Given the description of an element on the screen output the (x, y) to click on. 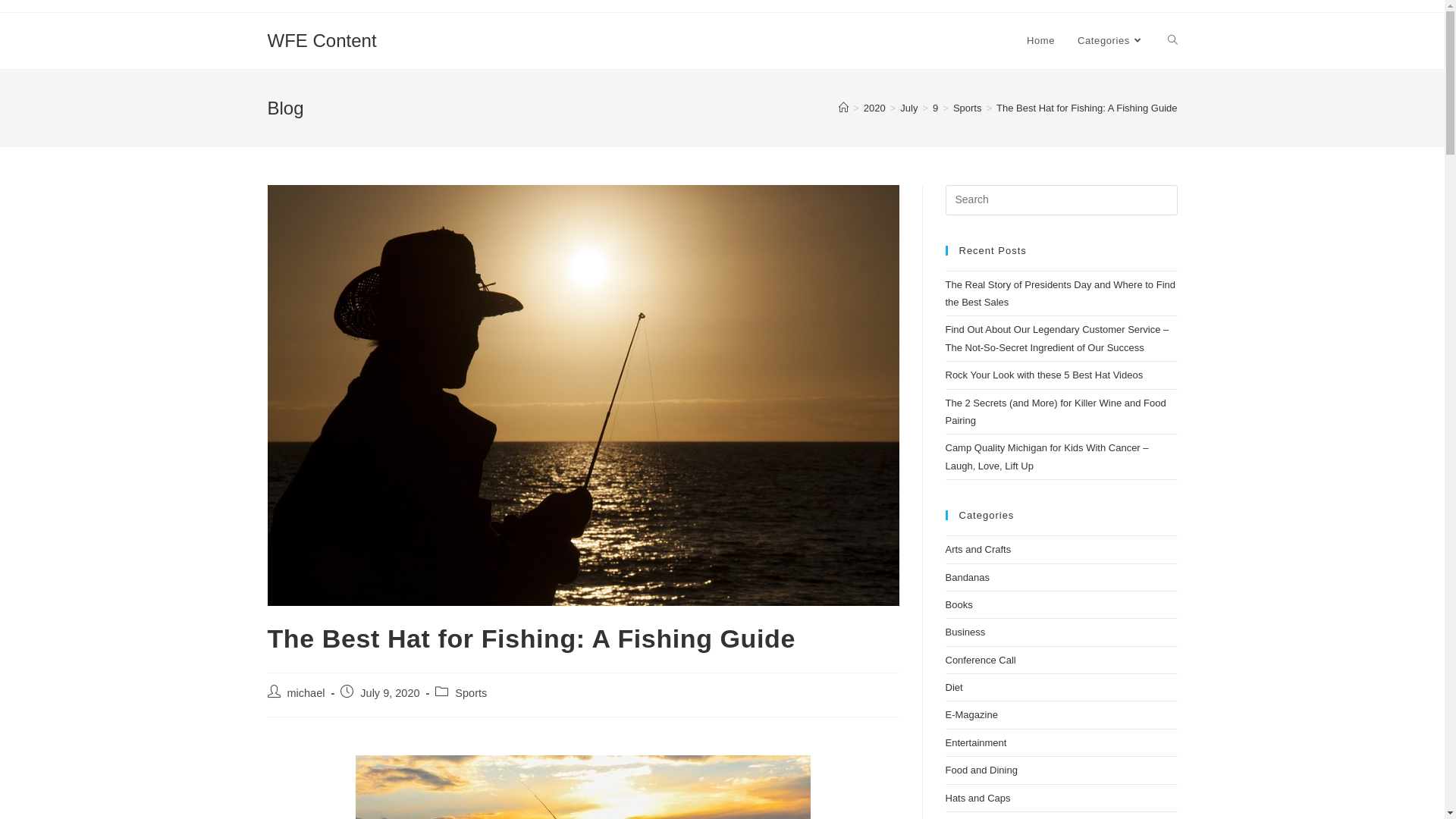
Home Element type: text (1040, 40)
WFE Content Element type: text (321, 40)
michael Element type: text (305, 693)
Sports Element type: text (470, 693)
The Best Hat for Fishing: A Fishing Guide Element type: text (1086, 107)
The Best Hat for Fishing: A Fishing Guide 1 Element type: hover (582, 395)
Diet Element type: text (953, 687)
Entertainment Element type: text (975, 742)
Food and Dining Element type: text (980, 769)
Books Element type: text (958, 604)
Arts and Crafts Element type: text (977, 549)
July Element type: text (908, 107)
The 2 Secrets (and More) for Killer Wine and Food Pairing Element type: text (1054, 411)
Business Element type: text (964, 631)
Categories Element type: text (1110, 40)
Rock Your Look with these 5 Best Hat Videos Element type: text (1043, 374)
9 Element type: text (935, 107)
2020 Element type: text (874, 107)
Bandanas Element type: text (966, 577)
E-Magazine Element type: text (970, 714)
Sports Element type: text (967, 107)
Conference Call Element type: text (979, 659)
Hats and Caps Element type: text (977, 797)
